Given the description of an element on the screen output the (x, y) to click on. 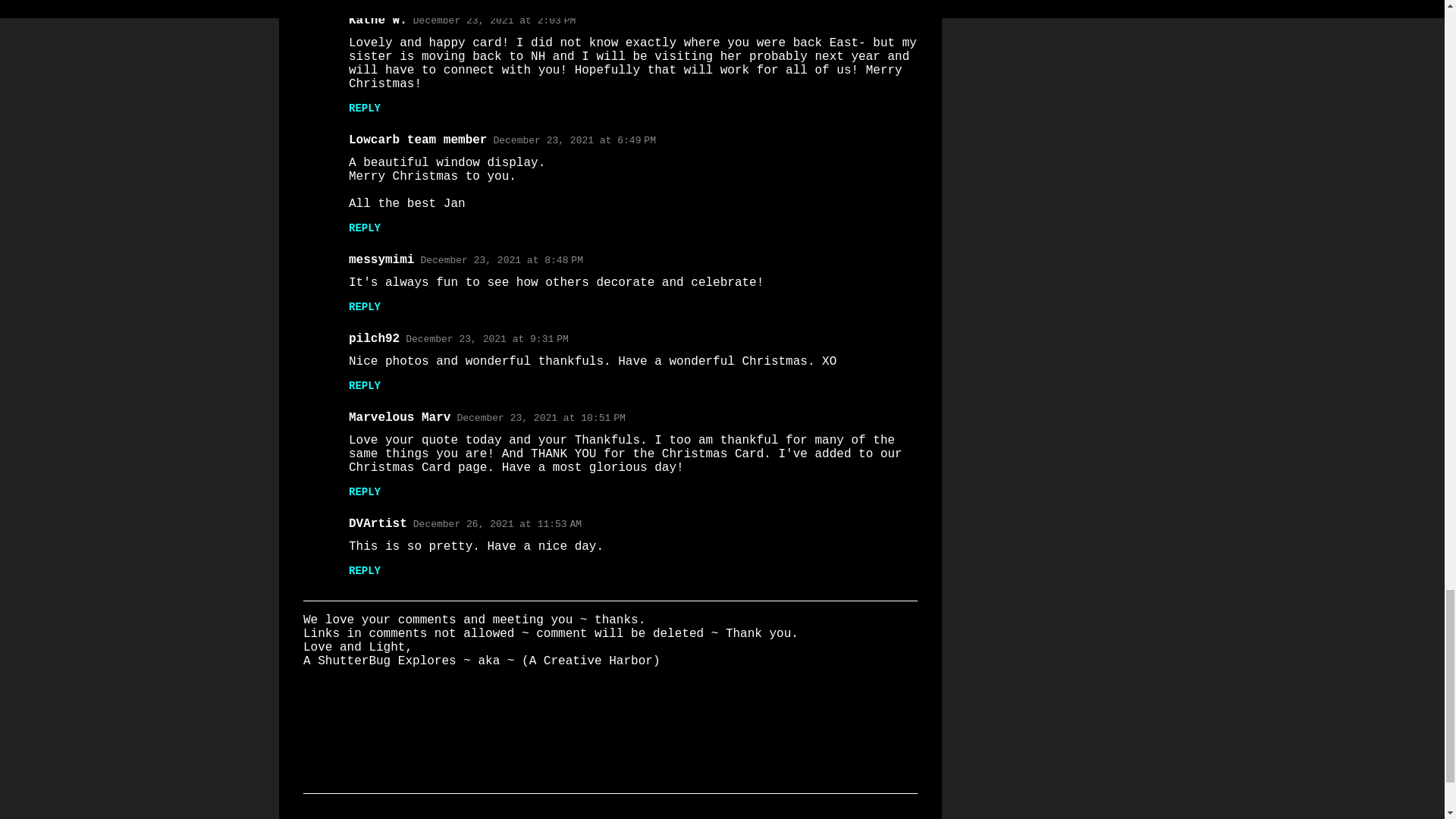
Kathe W. (378, 20)
REPLY (364, 108)
